Given the description of an element on the screen output the (x, y) to click on. 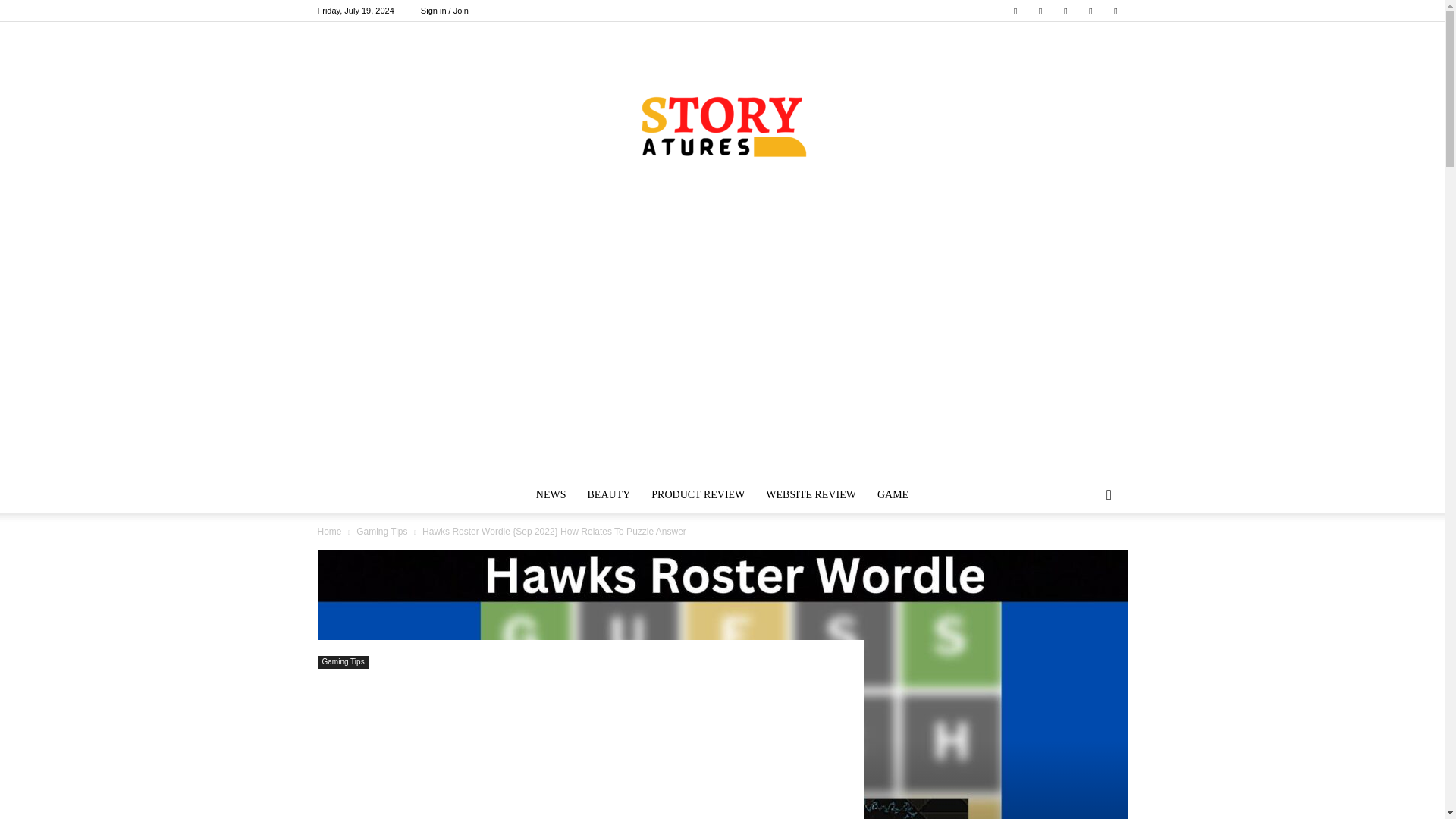
GAME (892, 494)
BEAUTY (609, 494)
Facebook (1015, 10)
WEBSITE REVIEW (810, 494)
Twitter (1040, 10)
Vimeo (1065, 10)
Advertisement (582, 752)
Home (328, 531)
Gaming Tips (381, 531)
View all posts in Gaming Tips (381, 531)
NEWS (550, 494)
Search (1085, 555)
Youtube (1114, 10)
